Given the description of an element on the screen output the (x, y) to click on. 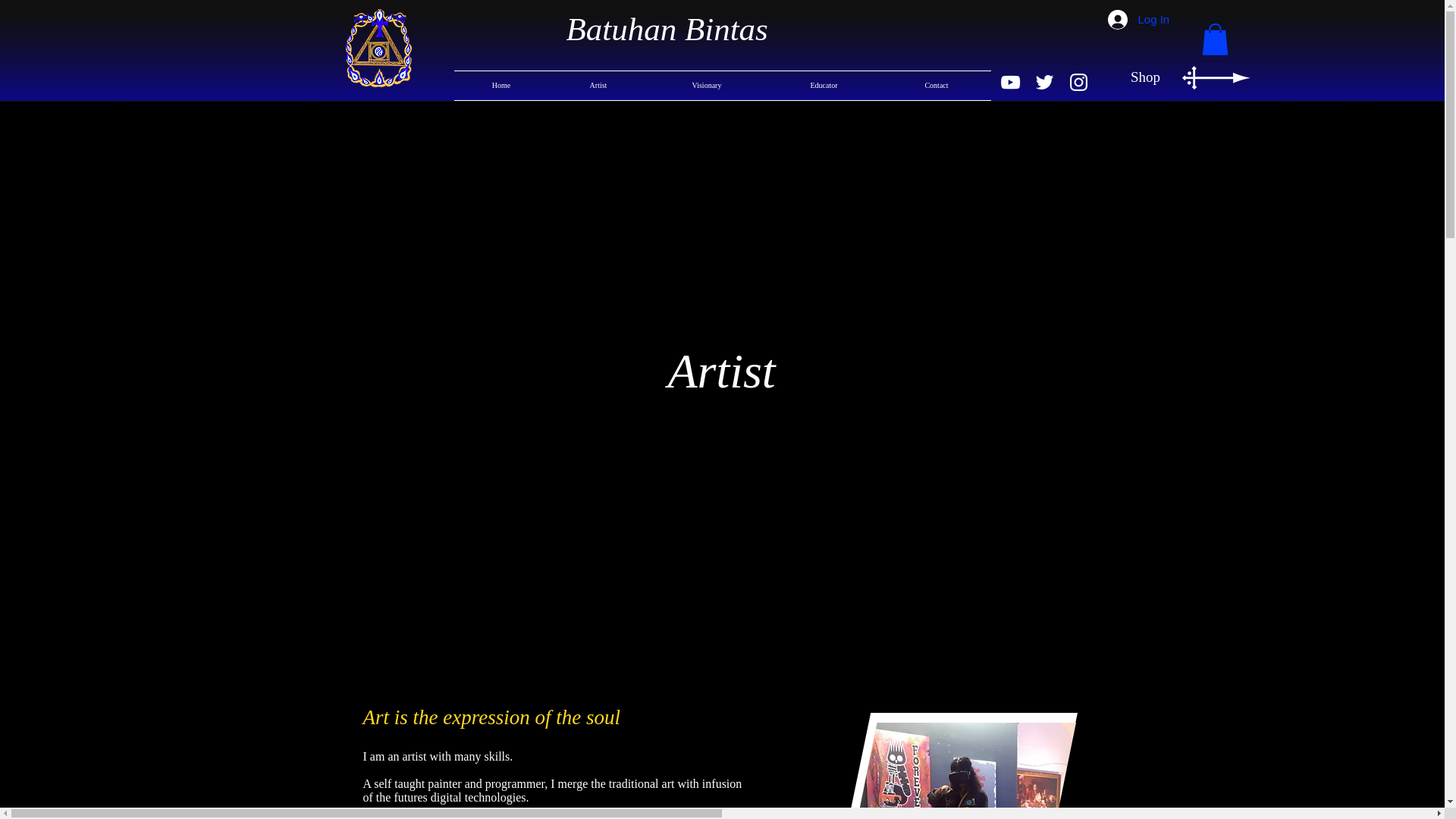
Home (500, 85)
Educator (823, 85)
Shop (1145, 76)
Contact (936, 85)
Artist (597, 85)
Visionary (706, 85)
Log In (1128, 19)
